Given the description of an element on the screen output the (x, y) to click on. 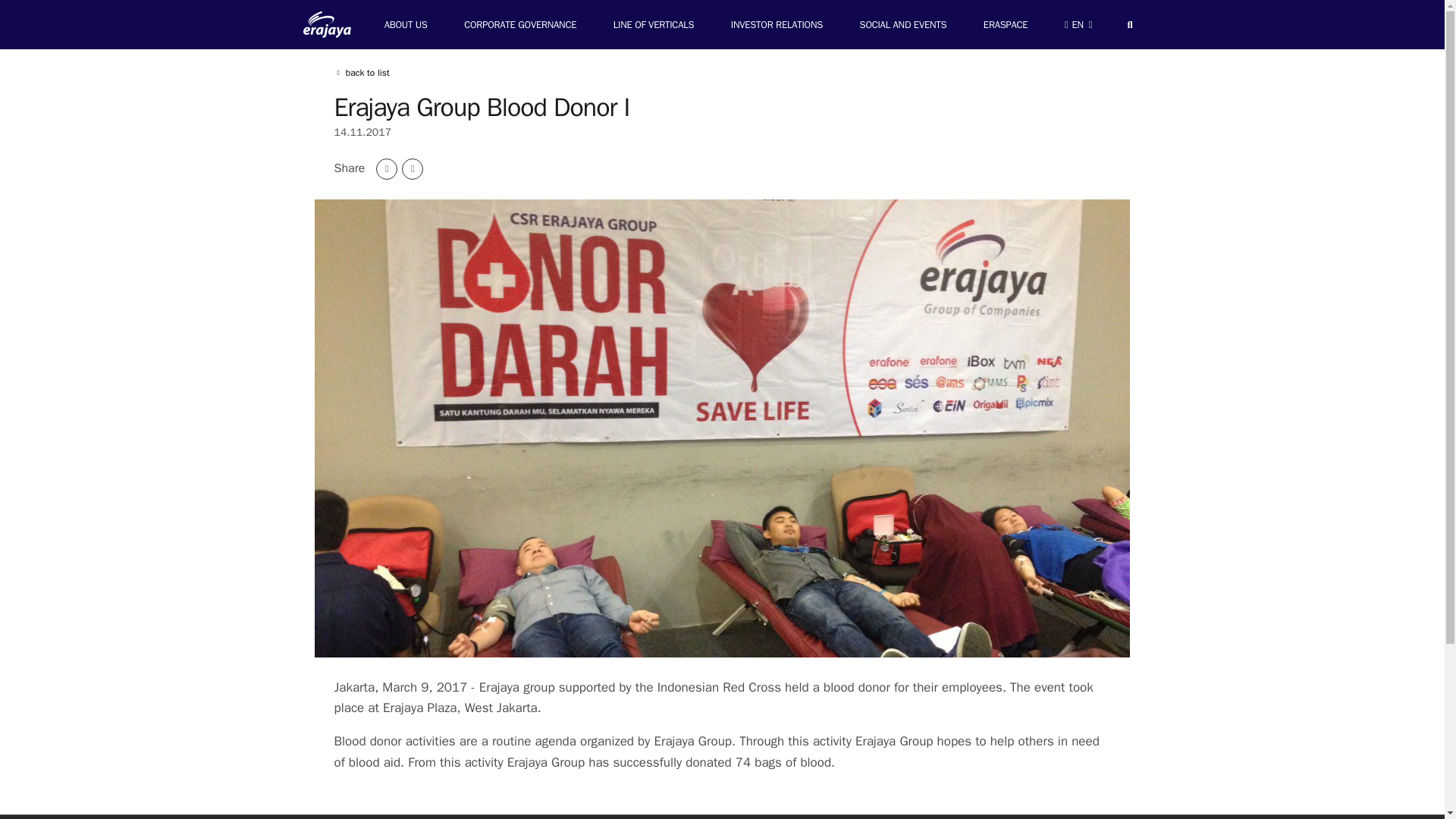
SOCIAL AND EVENTS (902, 24)
EN (1078, 24)
LINE OF VERTICALS (653, 24)
ERASPACE (1005, 24)
INVESTOR RELATIONS (776, 24)
ABOUT US (406, 24)
CORPORATE GOVERNANCE (519, 24)
